Given the description of an element on the screen output the (x, y) to click on. 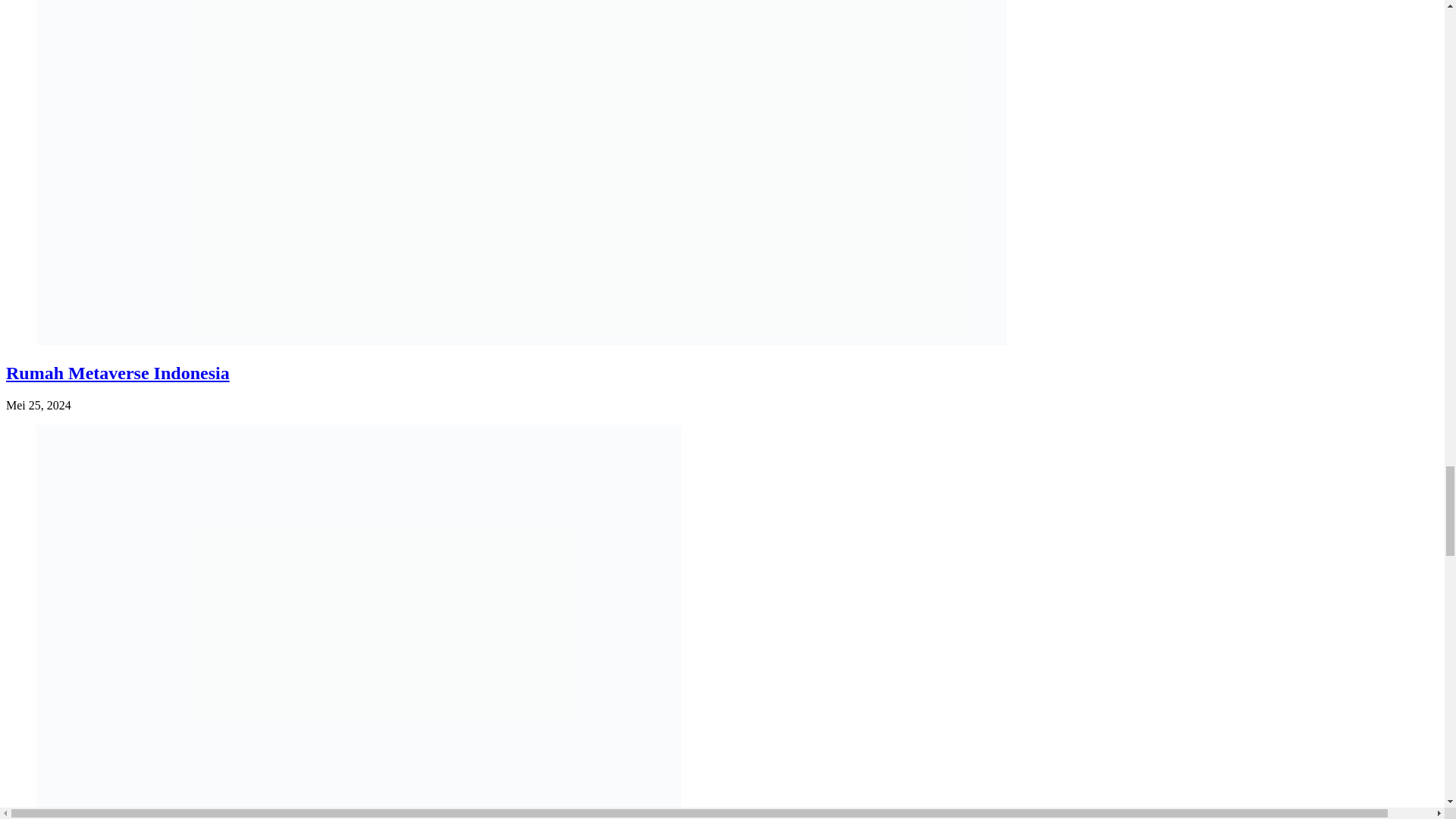
Rumah Metaverse Indonesia (117, 373)
